Given the description of an element on the screen output the (x, y) to click on. 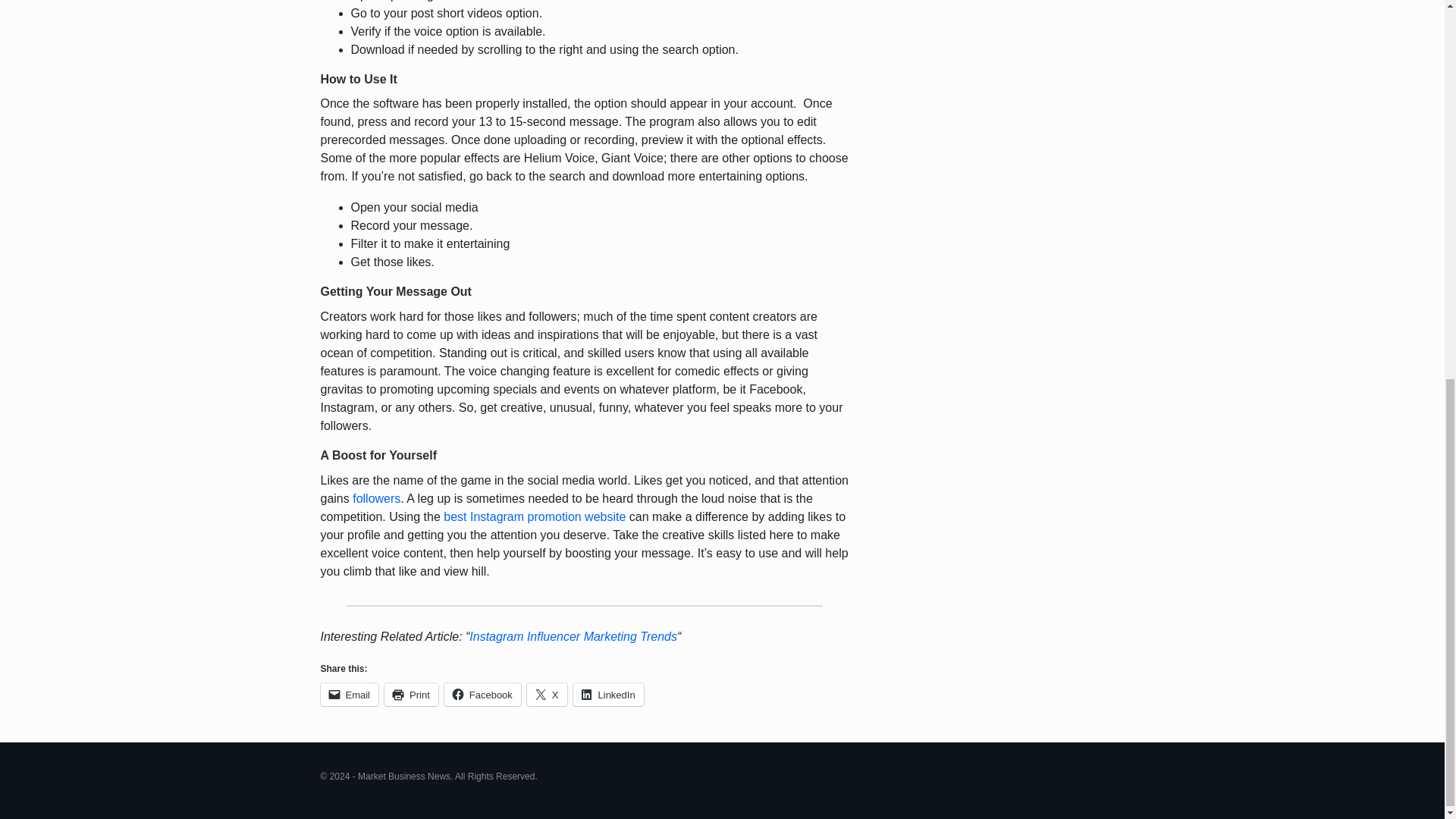
Click to share on LinkedIn (608, 694)
best Instagram promotion website (535, 516)
LinkedIn (608, 694)
Facebook (482, 694)
Click to share on X (547, 694)
followers (376, 498)
Instagram Influencer Marketing Trends (572, 635)
X (547, 694)
Click to email a link to a friend (349, 694)
Print (411, 694)
